Given the description of an element on the screen output the (x, y) to click on. 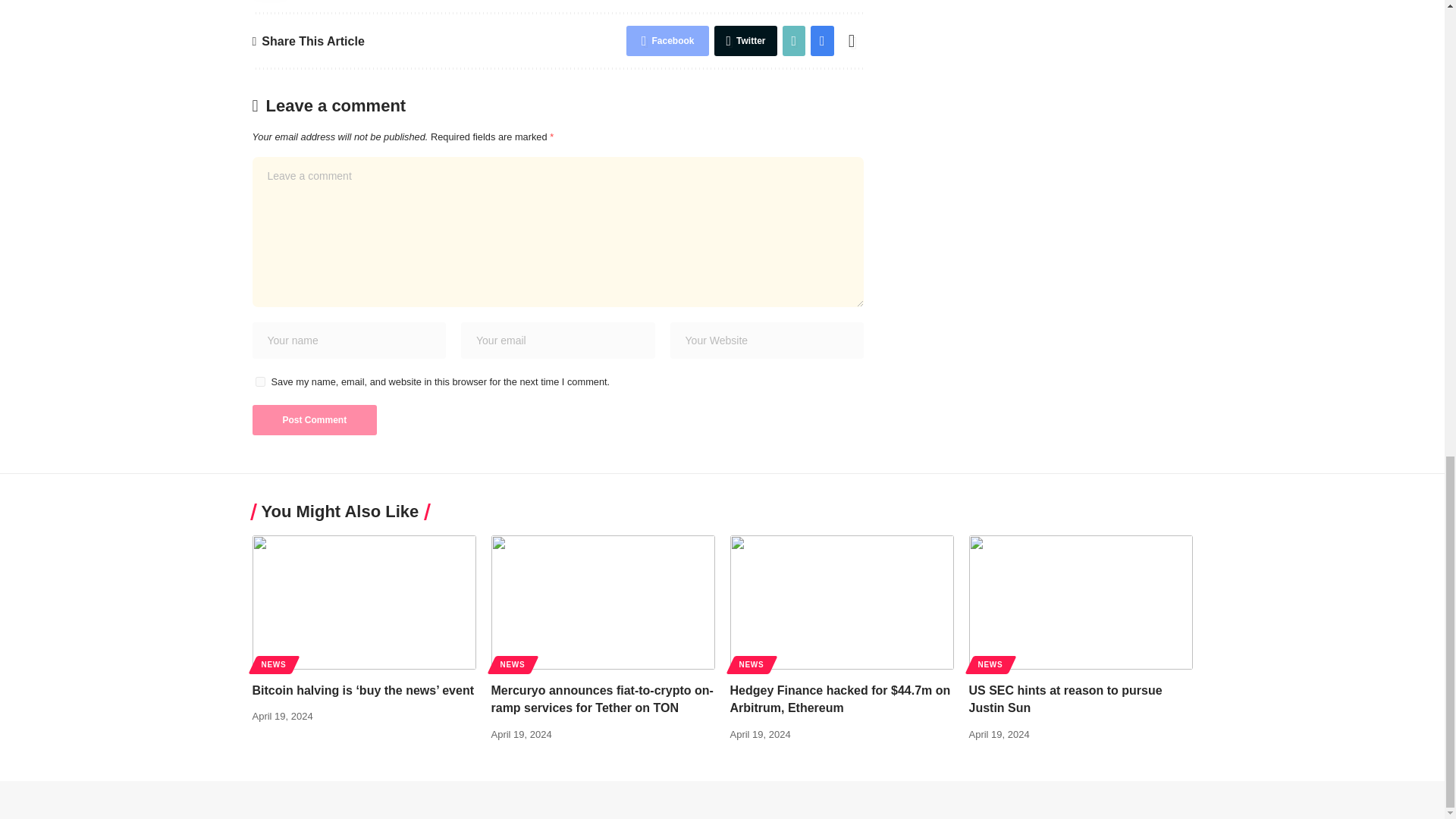
Facebook (668, 40)
US SEC hints at reason to pursue Justin Sun (1080, 602)
Twitter (745, 40)
Post Comment (314, 419)
yes (259, 381)
